Given the description of an element on the screen output the (x, y) to click on. 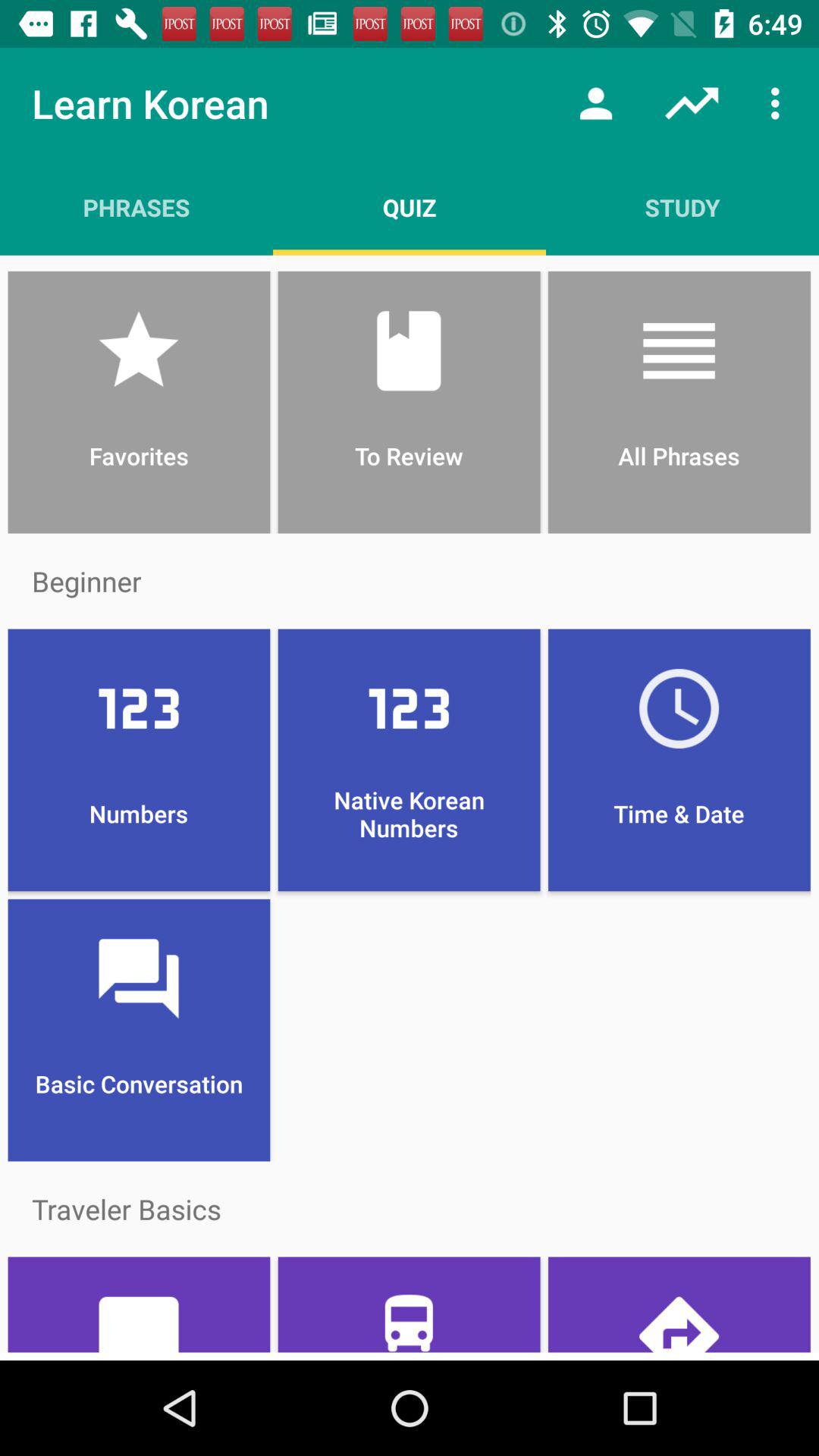
select icon above the favorites item (409, 207)
